Given the description of an element on the screen output the (x, y) to click on. 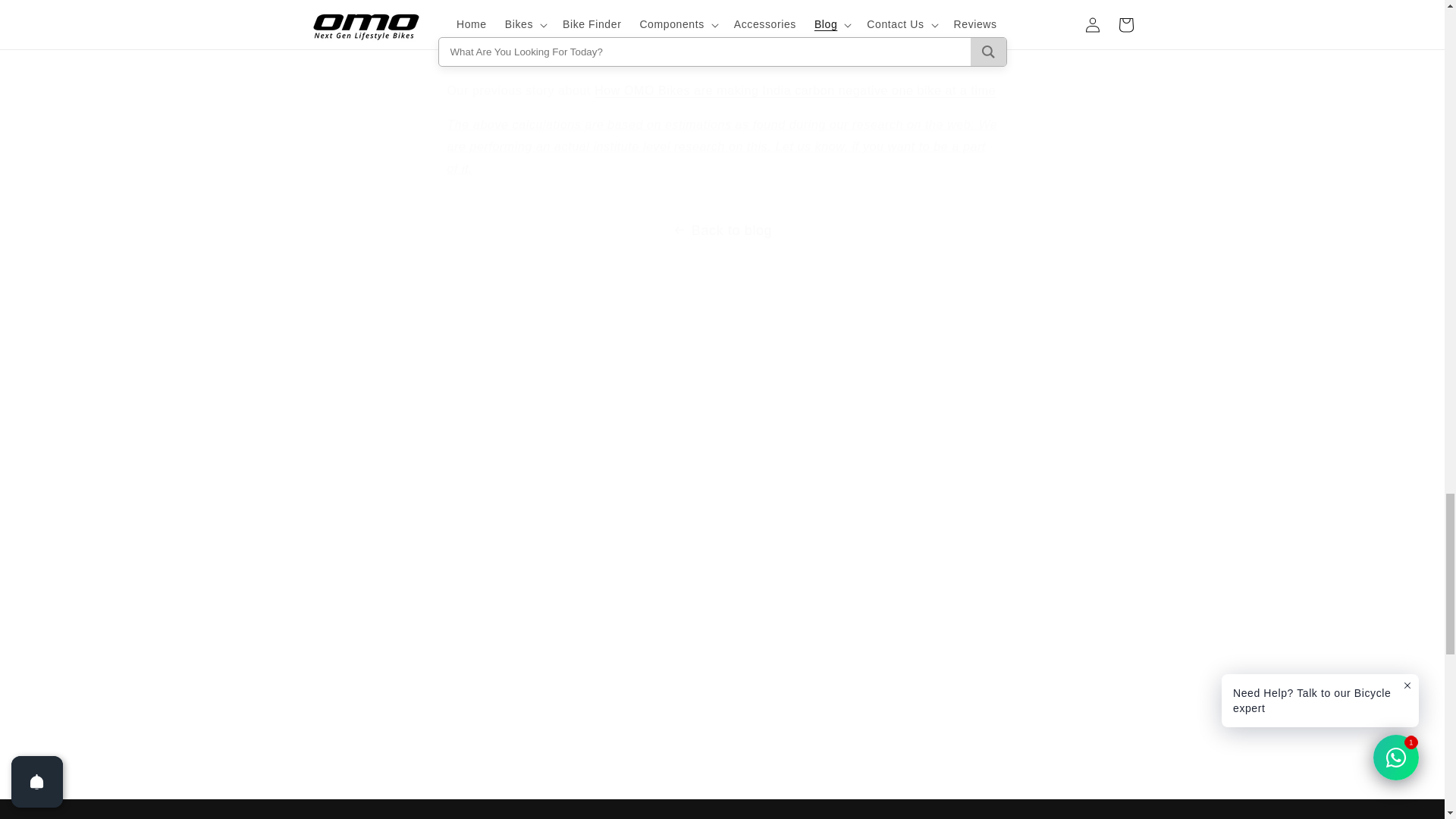
Zero maintenance bicycle and electric cycle in India  (707, 23)
